Given the description of an element on the screen output the (x, y) to click on. 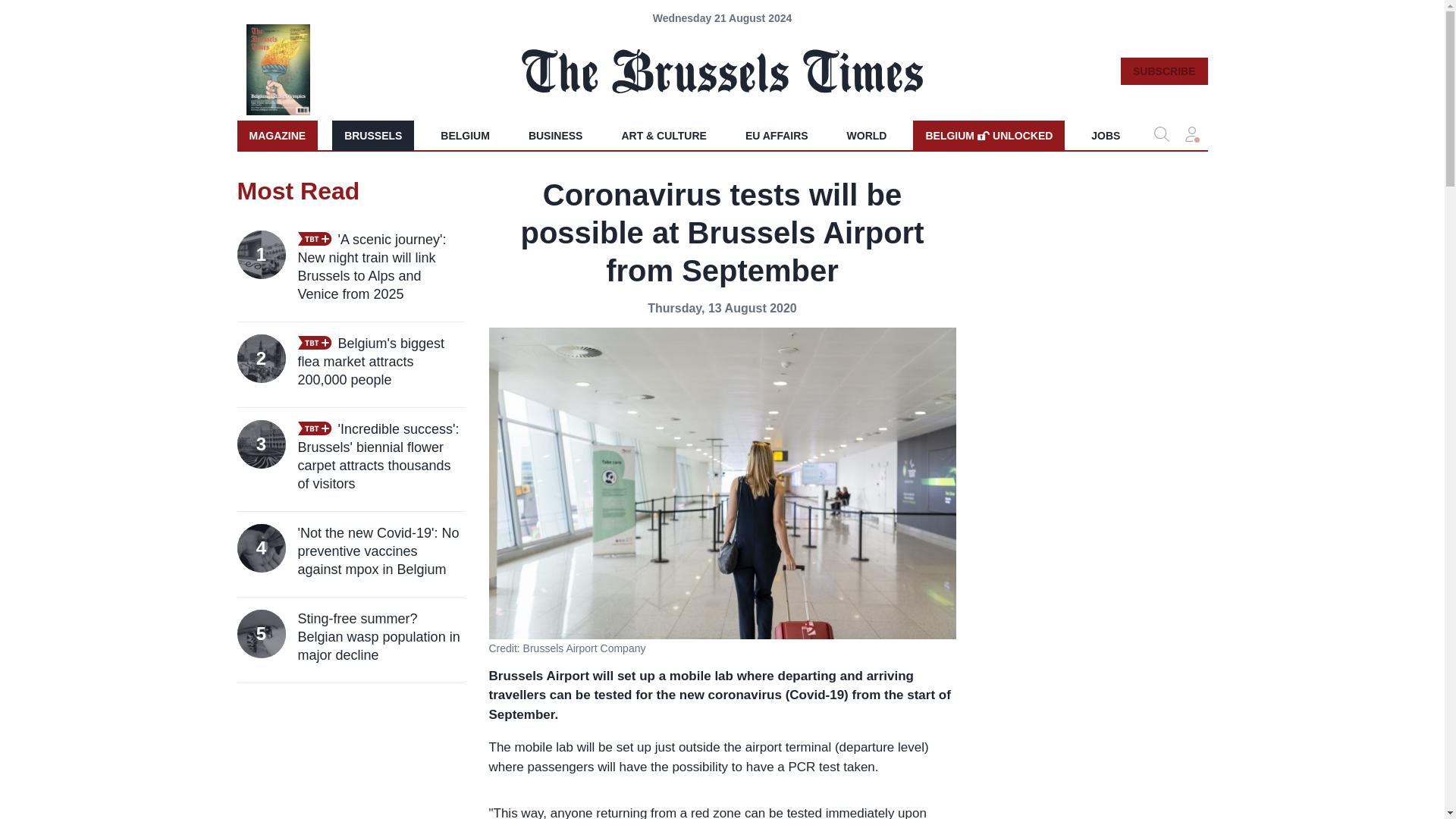
Sting-free summer? Belgian wasp population in major decline (380, 636)
Belgium's biggest flea market attracts 200,000 people (380, 361)
JOBS (1105, 135)
BUSINESS (555, 135)
BELGIUM (465, 135)
SUBSCRIBE (988, 135)
